Given the description of an element on the screen output the (x, y) to click on. 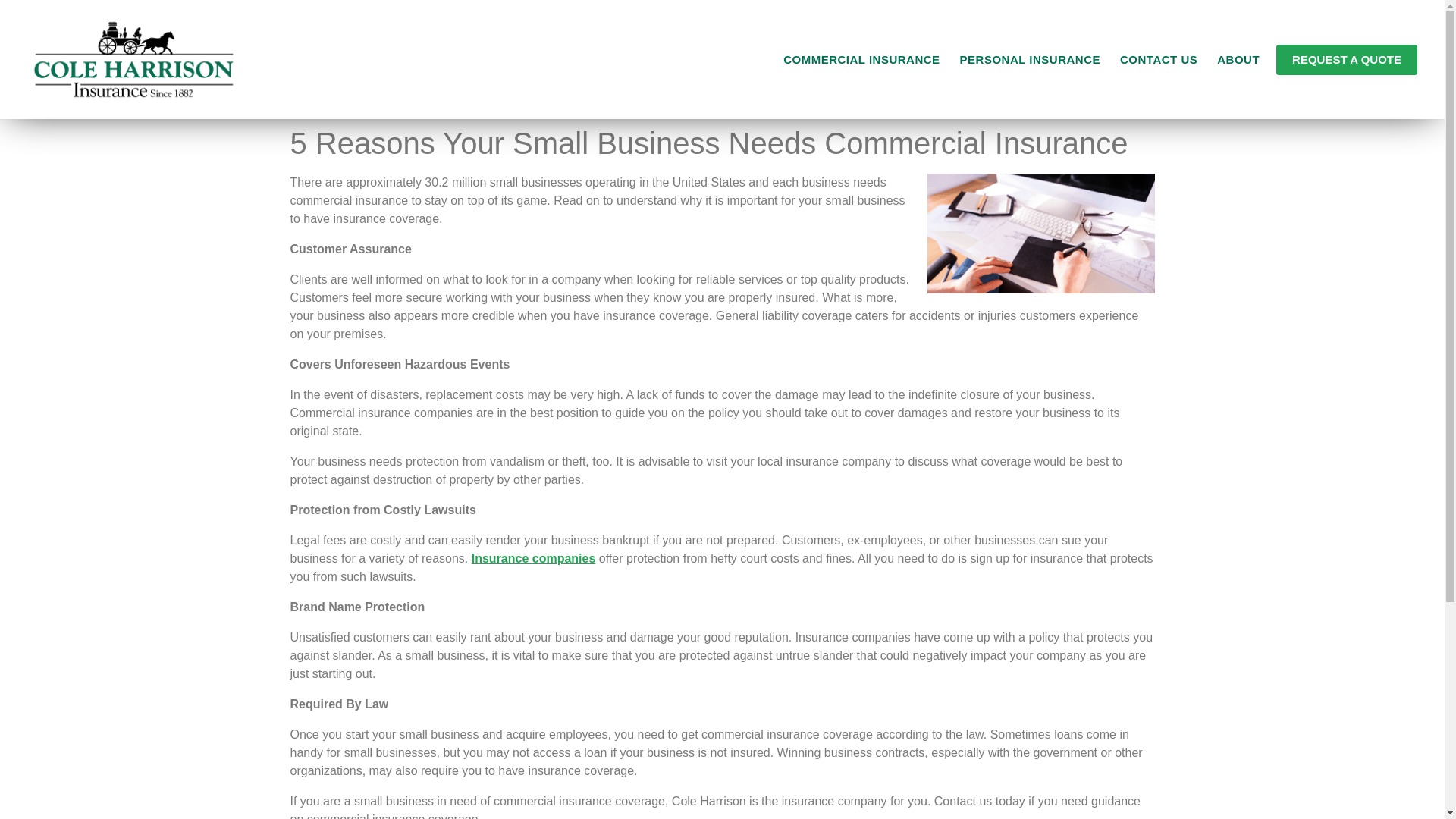
COMMERCIAL INSURANCE (861, 59)
CONTACT US (1158, 59)
ABOUT (1238, 59)
PERSONAL INSURANCE (1029, 59)
